Given the description of an element on the screen output the (x, y) to click on. 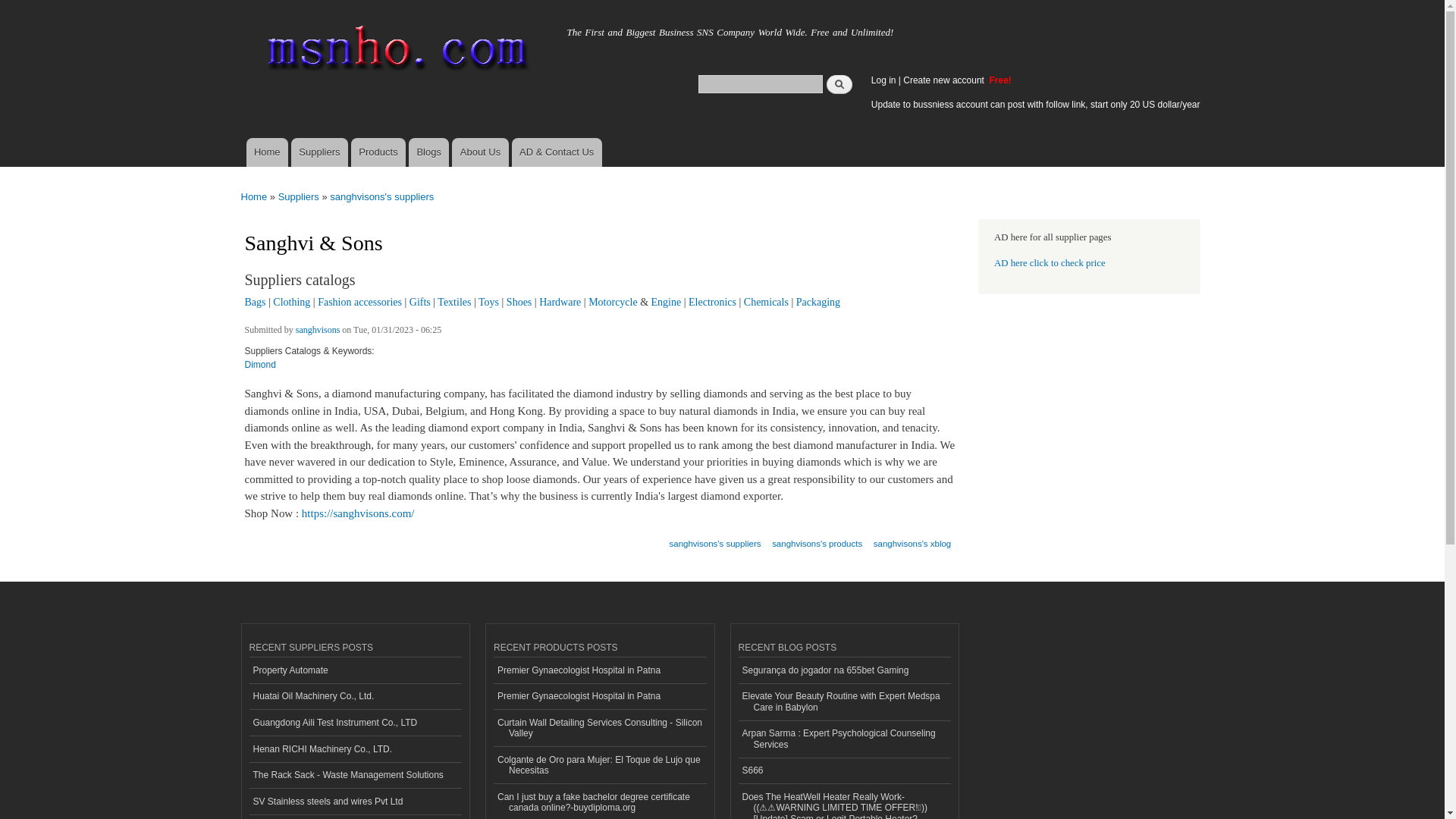
Suppliers (319, 152)
Products (378, 152)
AD here click to check price (1049, 262)
Gifts (419, 301)
Products,if need post product, contact to our AD department (378, 152)
sanghvisons's products (816, 538)
msnho.com (282, 28)
Blogs for suppliers and buyers (428, 152)
Enter the terms you wish to search for. (760, 83)
Skip to main content (690, 1)
